Given the description of an element on the screen output the (x, y) to click on. 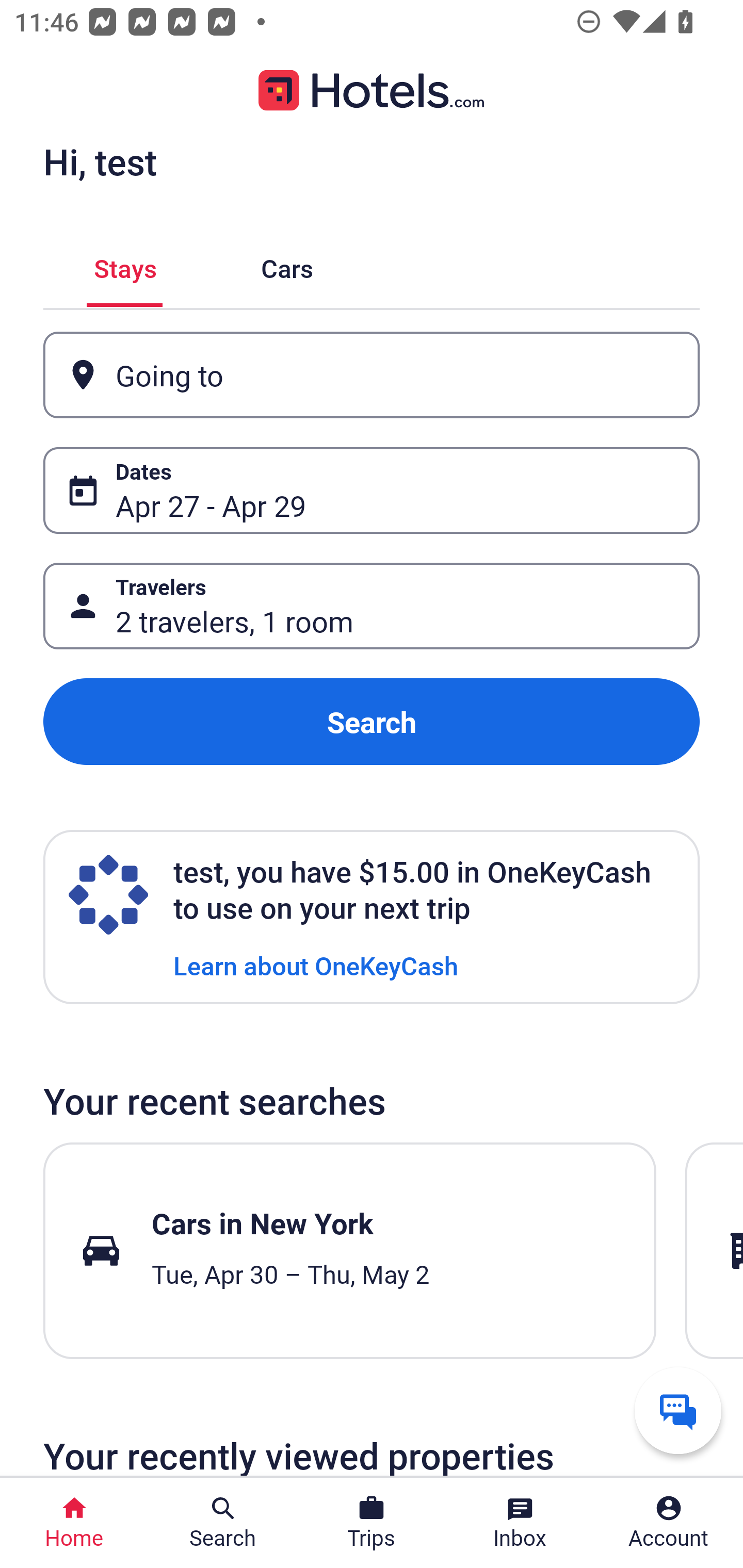
Hi, test (99, 161)
Cars (286, 265)
Going to Button (371, 375)
Dates Button Apr 27 - Apr 29 (371, 489)
Travelers Button 2 travelers, 1 room (371, 605)
Search (371, 721)
Learn about OneKeyCash Learn about OneKeyCash Link (315, 964)
Get help from a virtual agent (677, 1410)
Search Search Button (222, 1522)
Trips Trips Button (371, 1522)
Inbox Inbox Button (519, 1522)
Account Profile. Button (668, 1522)
